Given the description of an element on the screen output the (x, y) to click on. 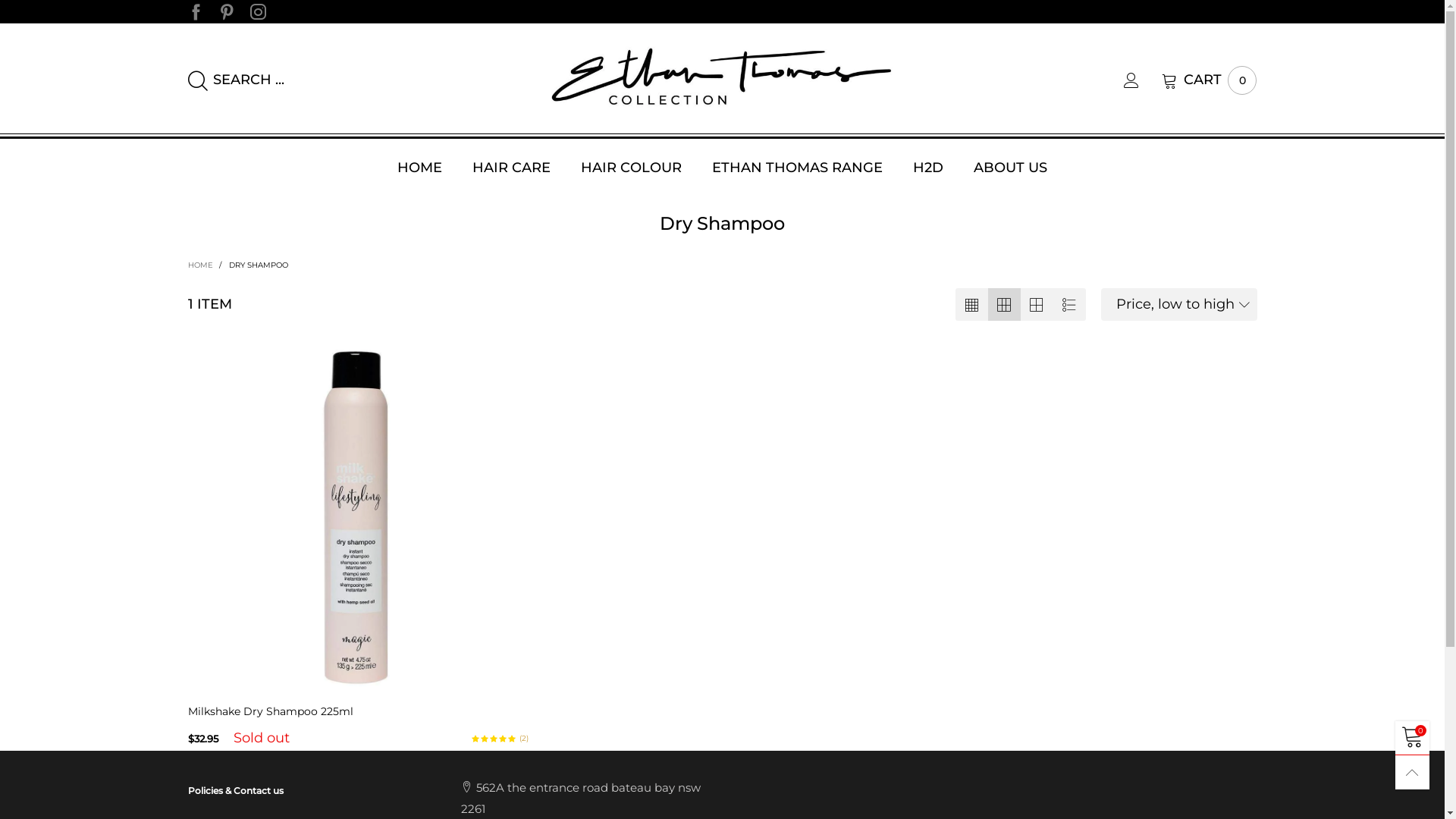
Milkshake Dry Shampoo 225ml Element type: text (358, 715)
0 Element type: text (1412, 738)
HAIR CARE Element type: text (511, 167)
Back to top Element type: hover (1412, 772)
HOME Element type: text (419, 167)
ETHAN THOMAS RANGE Element type: text (797, 167)
Large items in grid layout Element type: hover (1003, 304)
CART
0 Element type: text (1208, 79)
DRY SHAMPOO Element type: text (258, 264)
SEARCH ... Element type: text (358, 80)
Ethan Thomas Collection Element type: hover (721, 77)
Instagram Element type: hover (257, 9)
Pinterest Element type: hover (225, 9)
H2D Element type: text (928, 167)
Medium items in grid layout Element type: hover (971, 304)
HOME Element type: text (201, 264)
Very large items in grid layout Element type: hover (1036, 304)
HAIR COLOUR Element type: text (630, 167)
Price, low to high Element type: text (1179, 304)
Login Element type: hover (1142, 79)
List layout Element type: hover (1068, 304)
Milkshake Dry Shampoo 225ml Element type: hover (358, 517)
Facebook Element type: hover (195, 9)
Sign In Element type: text (1119, 260)
ABOUT US Element type: text (1010, 167)
